Given the description of an element on the screen output the (x, y) to click on. 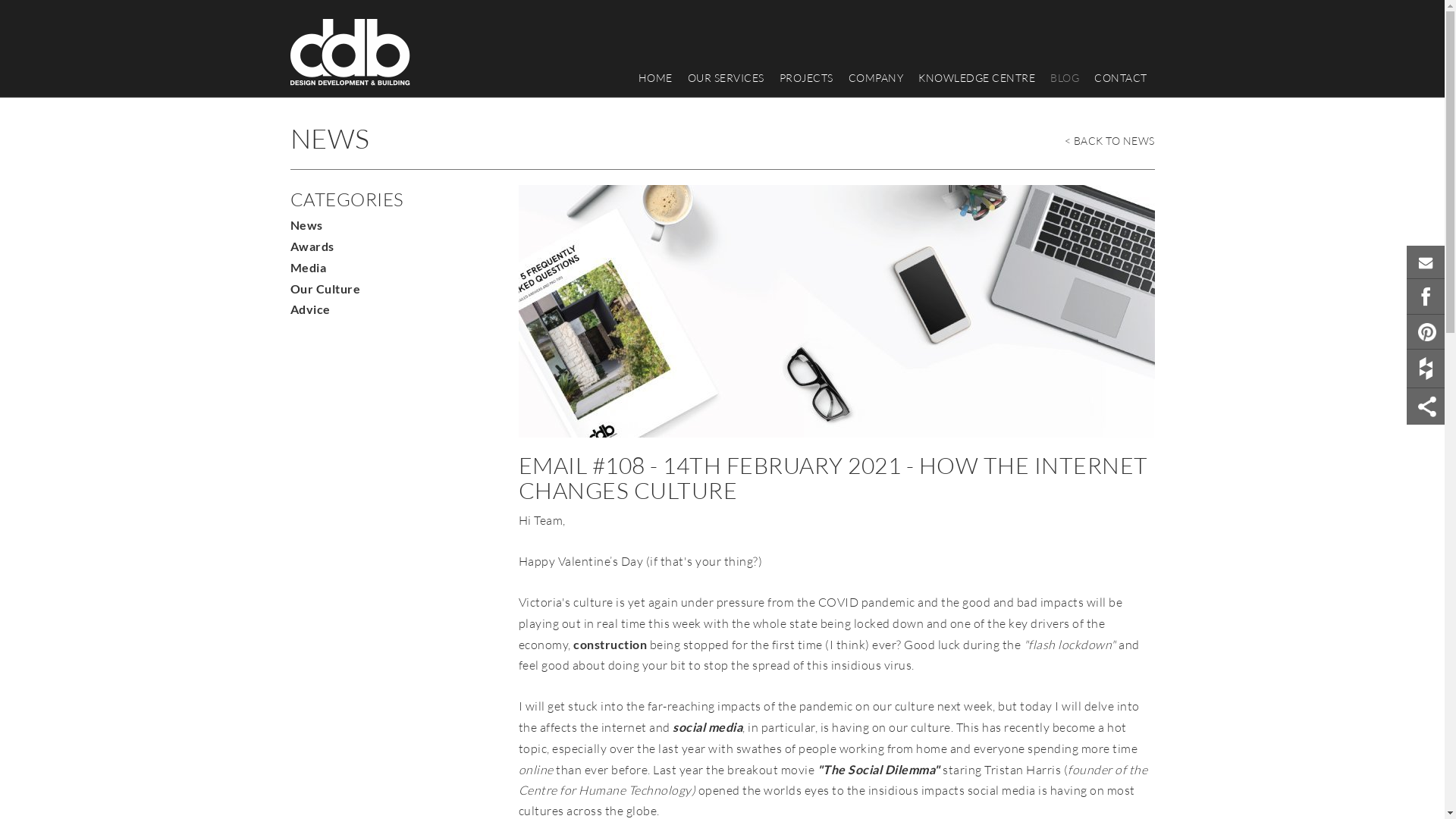
Advice Element type: text (309, 308)
BLOG Element type: text (1064, 77)
Media Element type: text (307, 267)
CONTACT Element type: text (1120, 77)
News Element type: text (305, 224)
Awards Element type: text (311, 245)
OUR SERVICES Element type: text (725, 77)
< BACK TO NEWS Element type: text (1109, 136)
PROJECTS Element type: text (805, 77)
KNOWLEDGE CENTRE Element type: text (976, 77)
HOME Element type: text (655, 77)
COMPANY Element type: text (875, 77)
Our Culture Element type: text (324, 288)
